Given the description of an element on the screen output the (x, y) to click on. 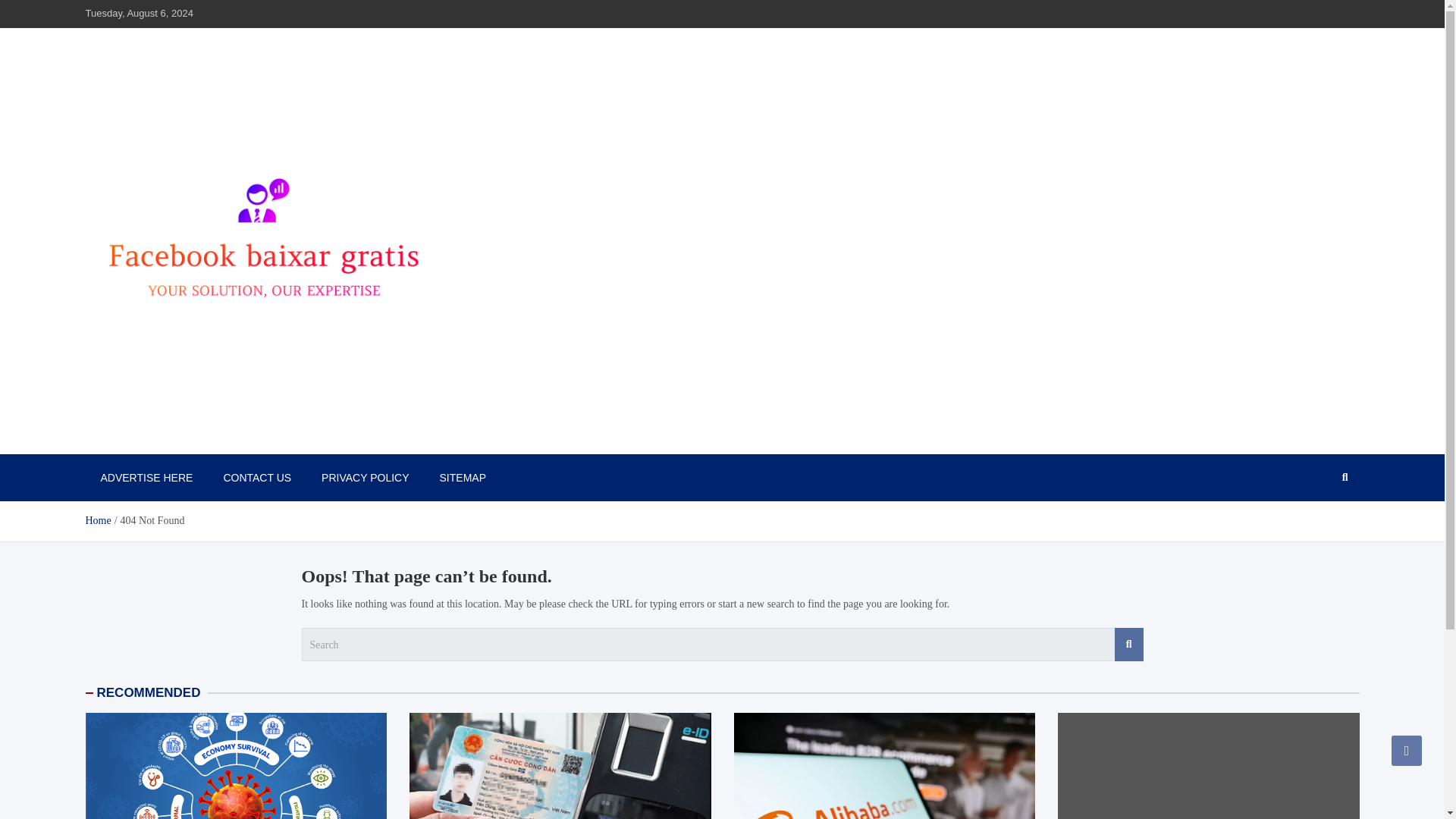
Home (97, 520)
PRIVACY POLICY (364, 477)
CONTACT US (256, 477)
ADVERTISE HERE (146, 477)
Search (1128, 644)
Go to Top (1406, 750)
SITEMAP (462, 477)
Facebook baixar gratis (203, 437)
RECOMMENDED (148, 692)
